Given the description of an element on the screen output the (x, y) to click on. 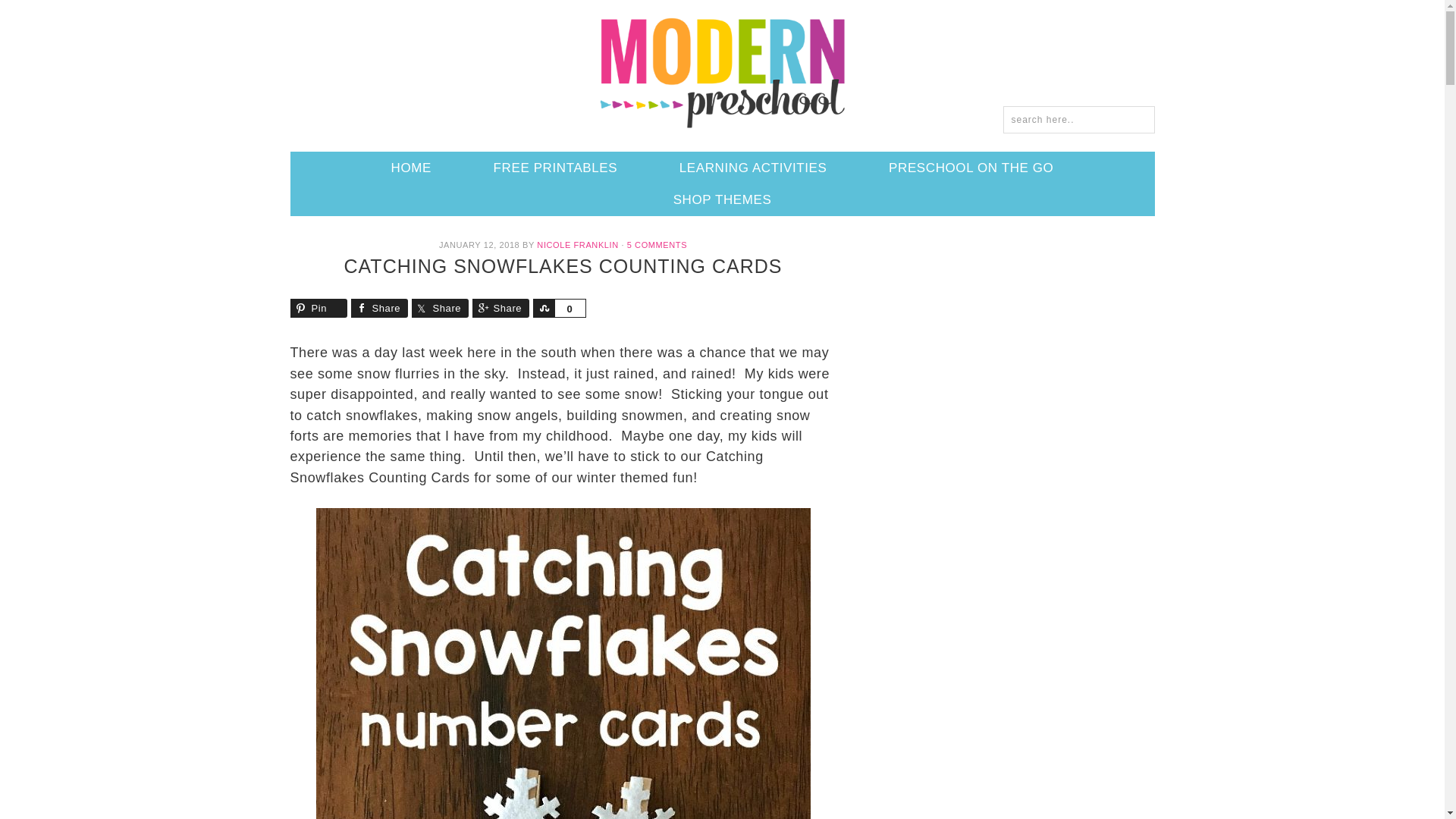
MODERN PRESCHOOL (722, 71)
Pin (317, 307)
FREE PRINTABLES (555, 168)
LEARNING ACTIVITIES (753, 168)
SHOP THEMES (722, 199)
0 (569, 307)
Share (499, 307)
5 COMMENTS (657, 244)
Share (542, 307)
Share (438, 307)
NICOLE FRANKLIN (577, 244)
PRESCHOOL ON THE GO (970, 168)
